Given the description of an element on the screen output the (x, y) to click on. 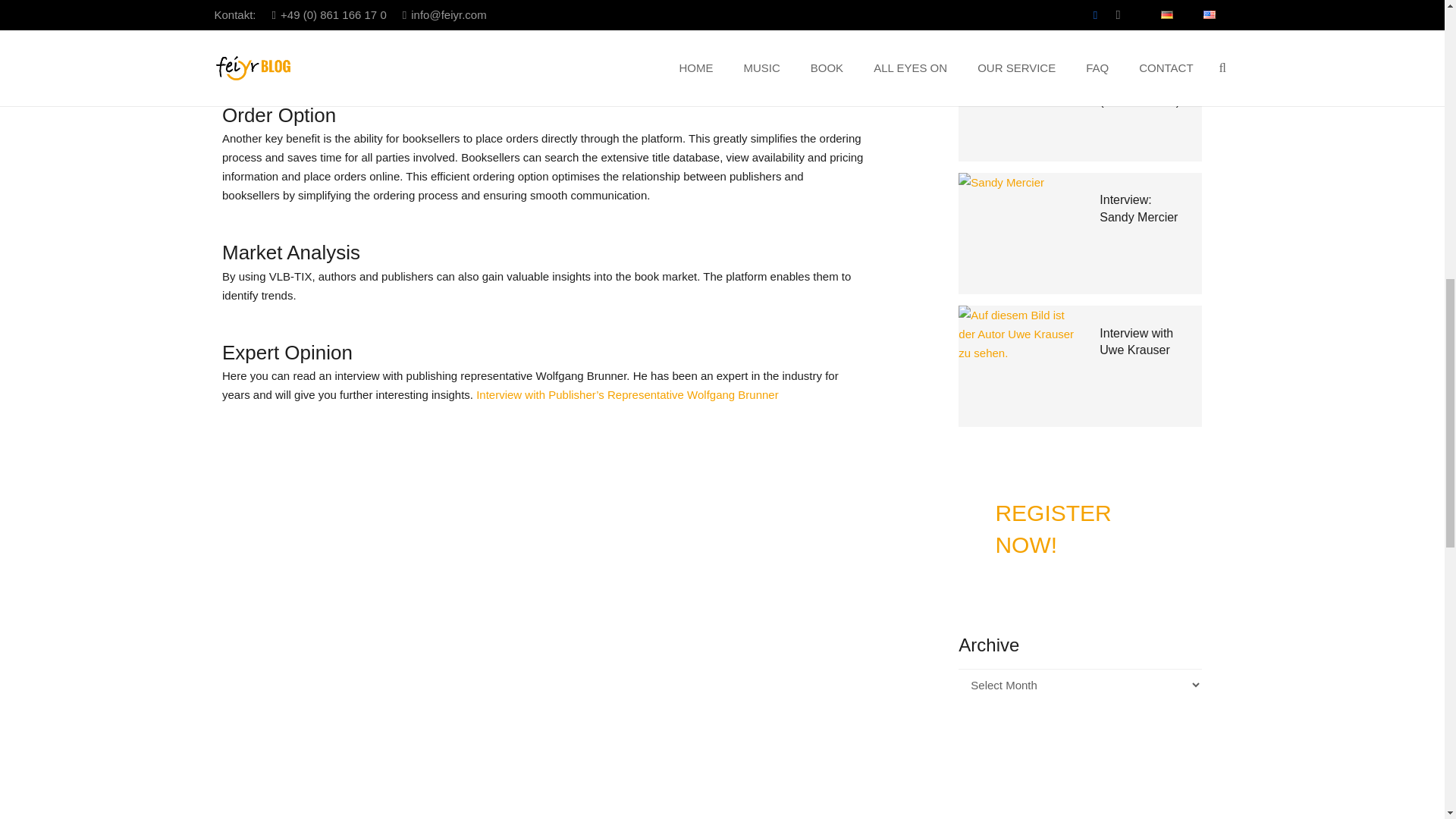
Interview with Uwe Krauser (1136, 341)
Back to top (1413, 26)
Interview: Sandy Mercier (1138, 207)
